Given the description of an element on the screen output the (x, y) to click on. 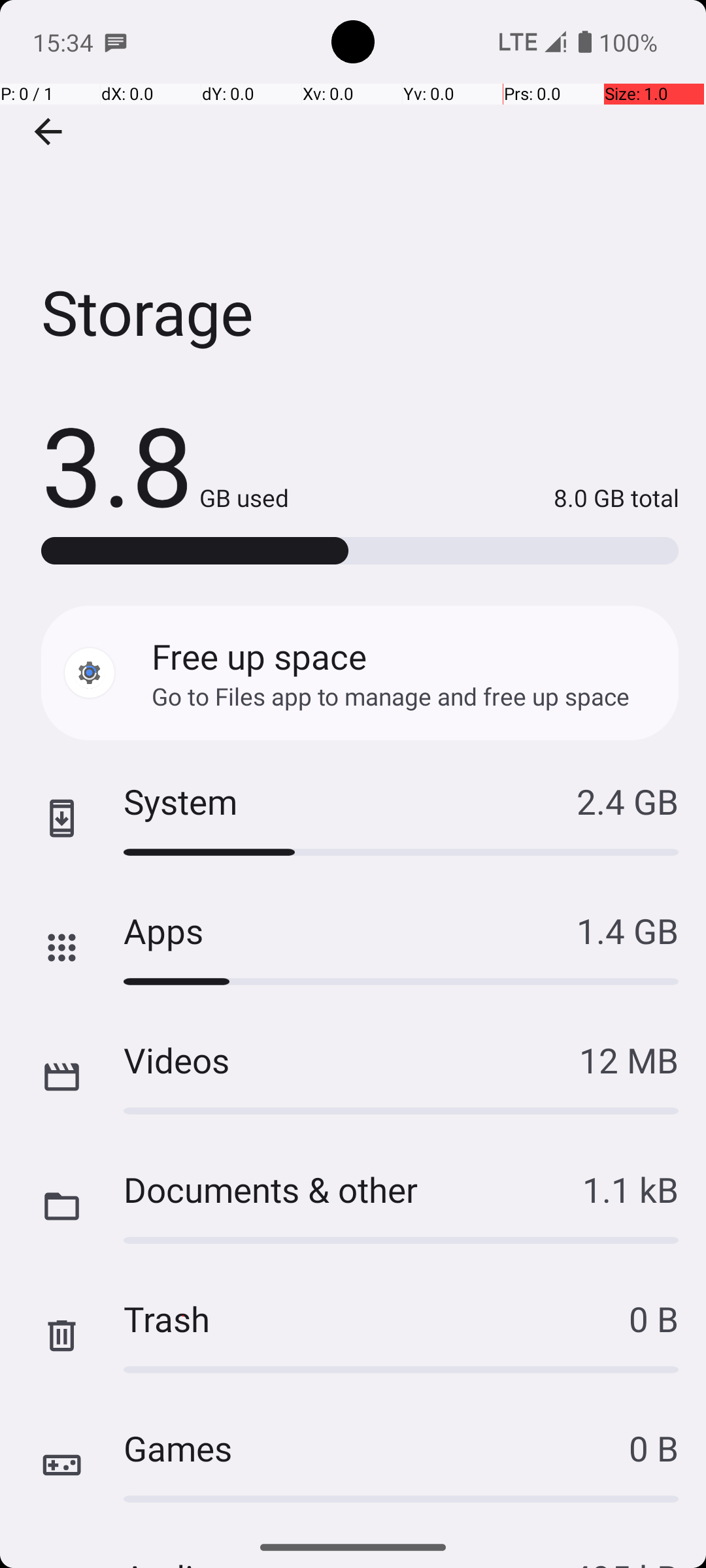
3.8 GB used Element type: android.widget.TextView (164, 463)
2.4 GB Element type: android.widget.TextView (627, 801)
1.4 GB Element type: android.widget.TextView (627, 930)
12 MB Element type: android.widget.TextView (628, 1059)
1.1 kB Element type: android.widget.TextView (630, 1189)
